Given the description of an element on the screen output the (x, y) to click on. 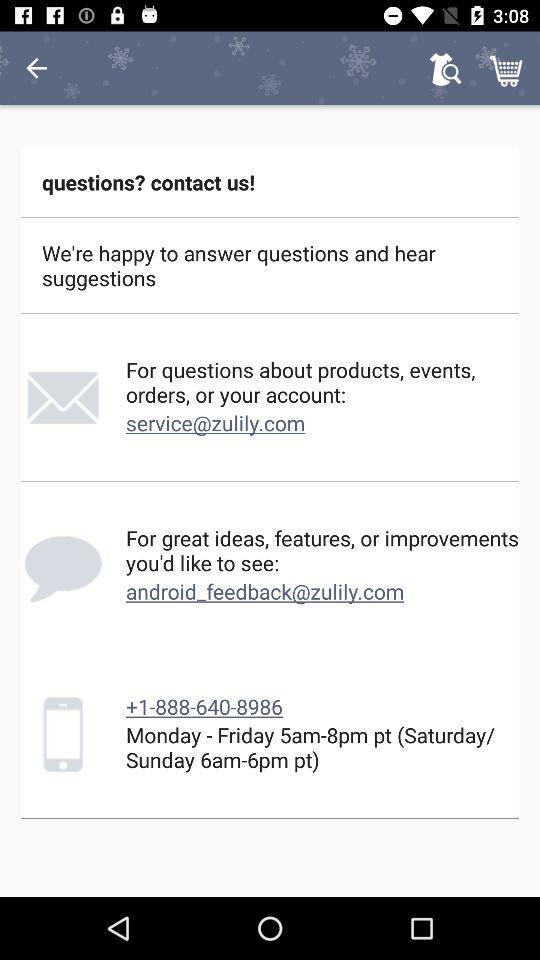
press the icon above questions? contact us! (508, 67)
